Given the description of an element on the screen output the (x, y) to click on. 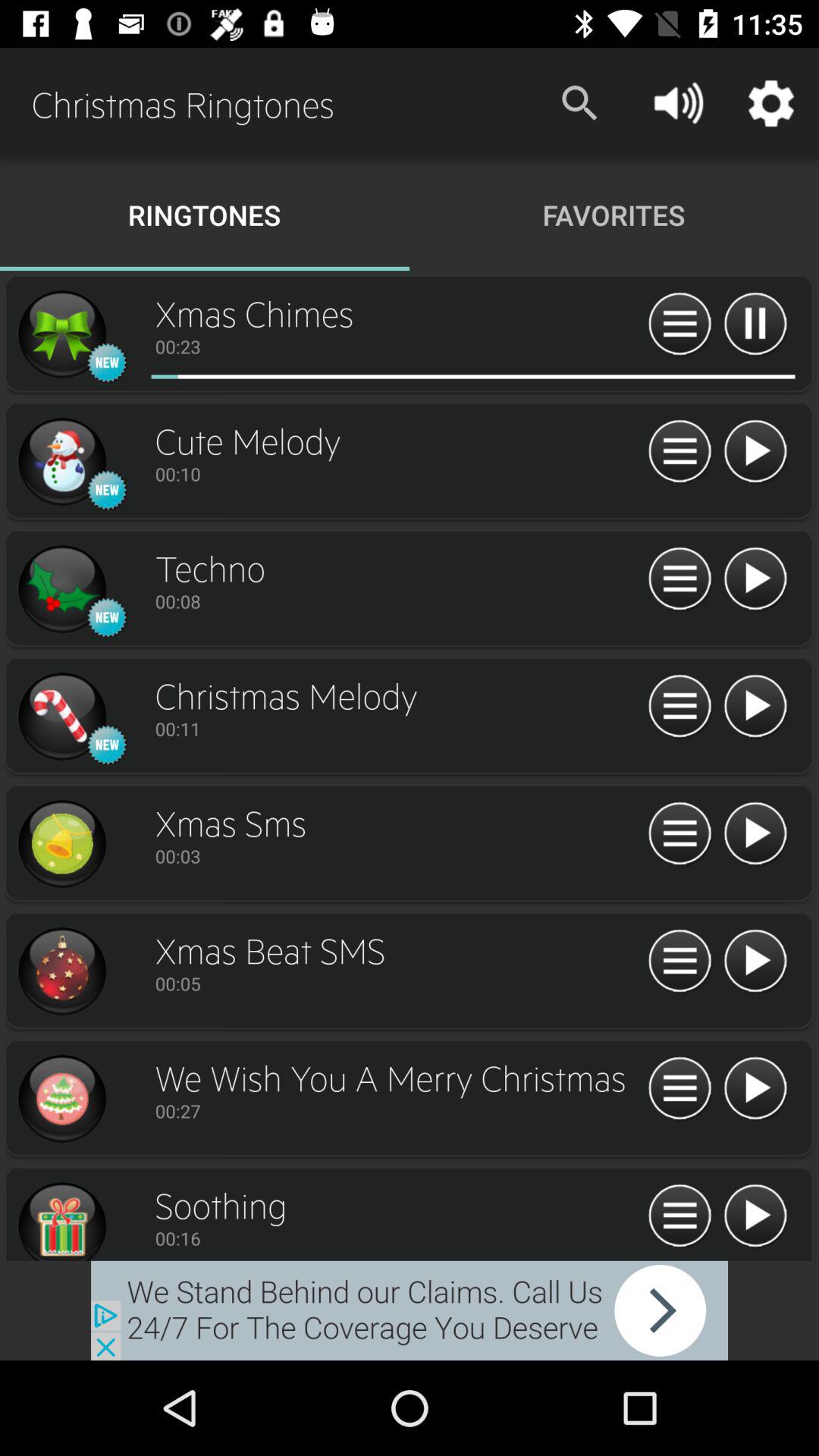
displays a list of options (679, 834)
